Given the description of an element on the screen output the (x, y) to click on. 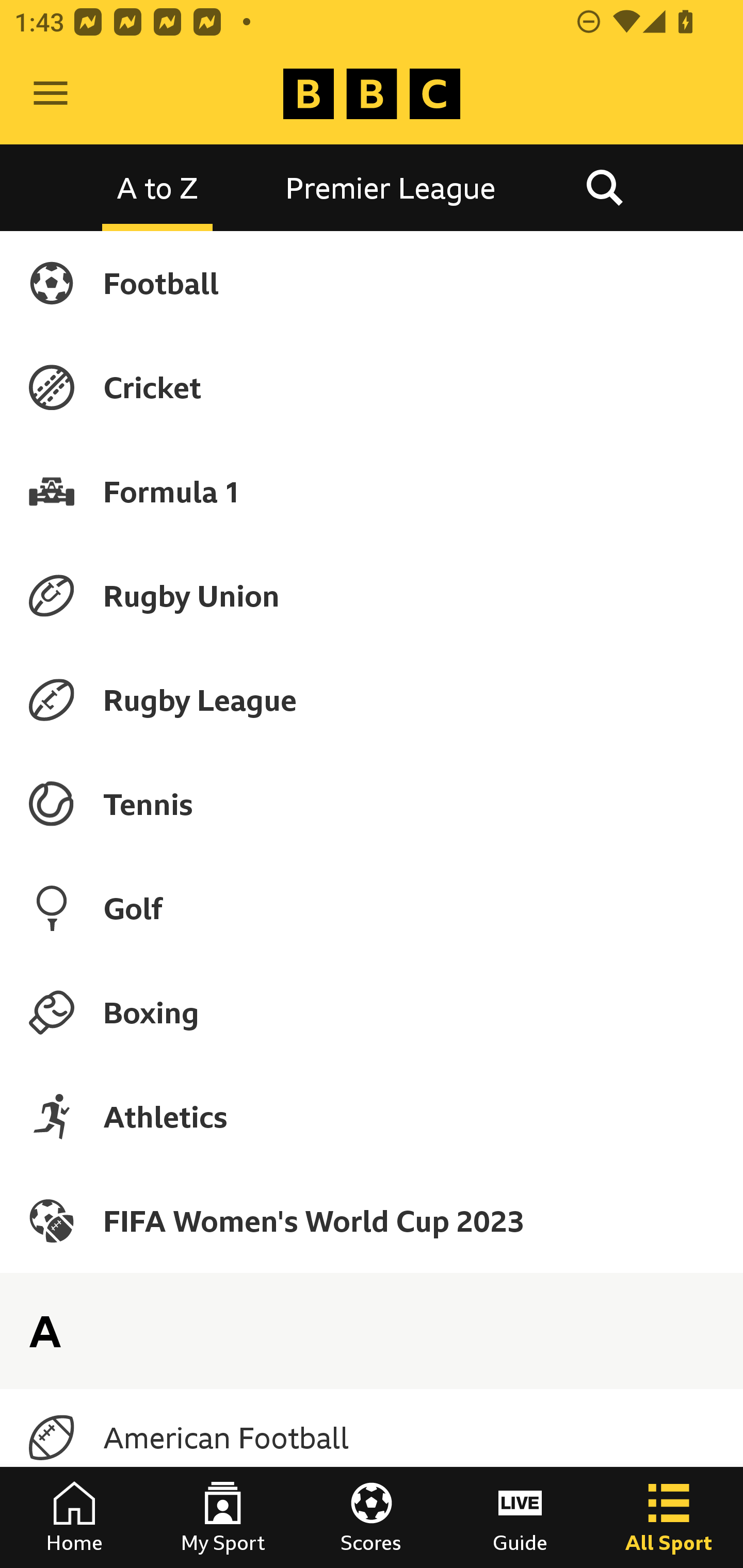
Open Menu (50, 93)
Premier League (390, 187)
Search (604, 187)
Football (371, 282)
Cricket (371, 387)
Formula 1 (371, 491)
Rugby Union (371, 595)
Rugby League (371, 699)
Tennis (371, 804)
Golf (371, 907)
Boxing (371, 1011)
Athletics (371, 1116)
FIFA Women's World Cup 2023 (371, 1220)
American Football (371, 1437)
Home (74, 1517)
My Sport (222, 1517)
Scores (371, 1517)
Guide (519, 1517)
